Given the description of an element on the screen output the (x, y) to click on. 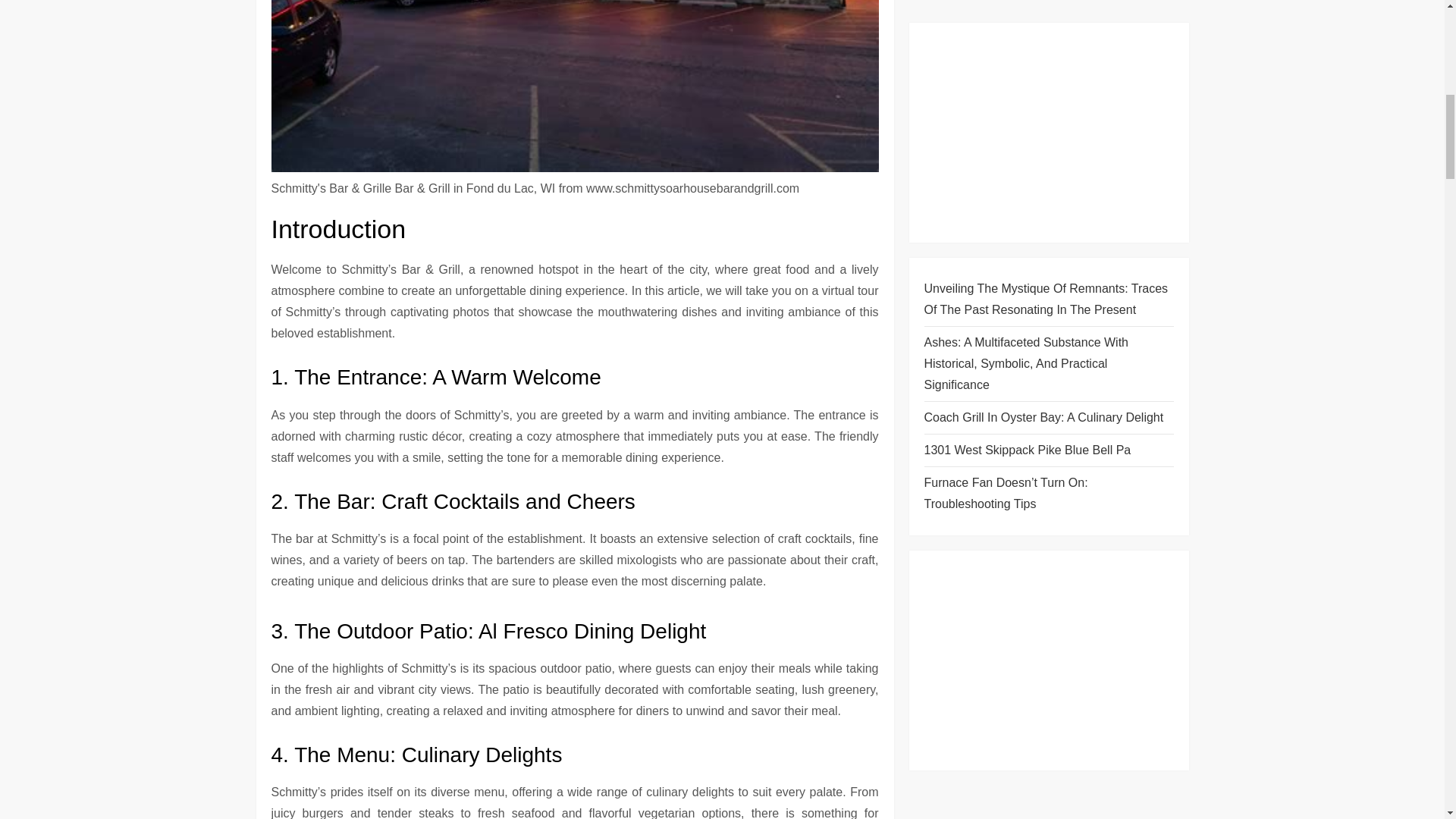
Advertisement (1048, 52)
